Given the description of an element on the screen output the (x, y) to click on. 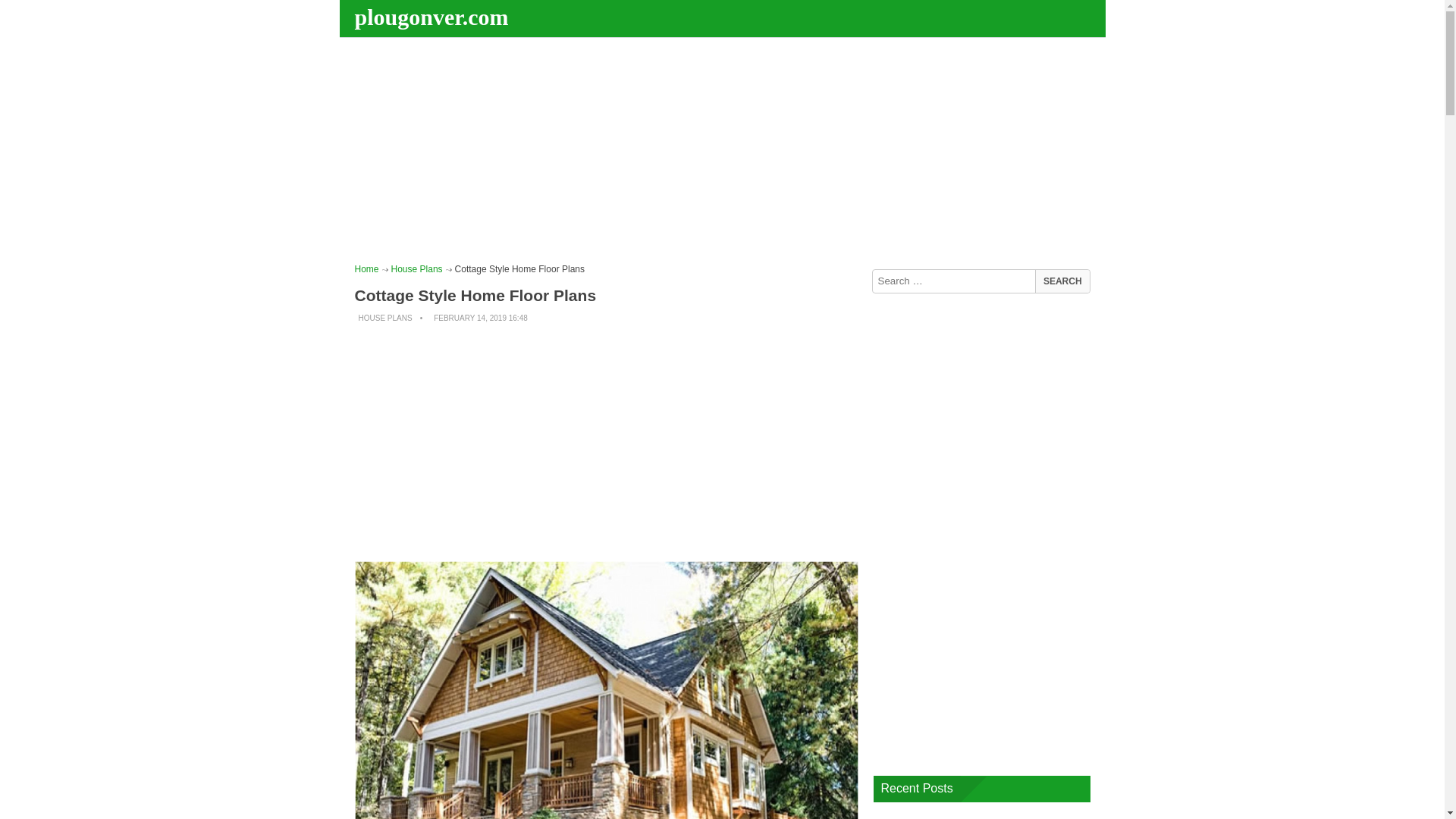
Search (1062, 281)
Advertisement (607, 443)
Home (366, 268)
plougonver.com (433, 16)
HOUSE PLANS (385, 317)
Search (1062, 281)
House Plans (416, 268)
